Given the description of an element on the screen output the (x, y) to click on. 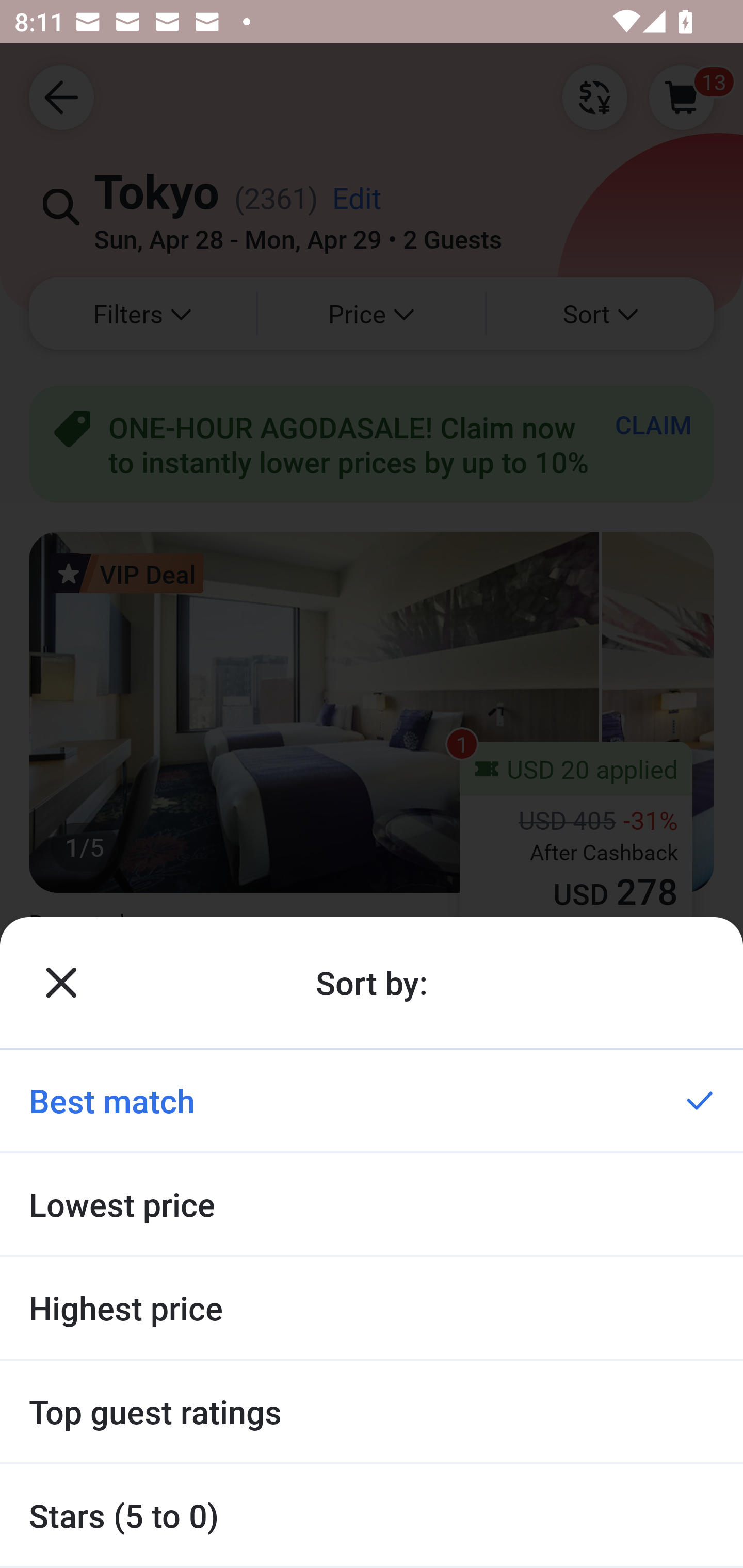
Best match (371, 1099)
Lowest price (371, 1204)
Highest price (371, 1307)
Top guest ratings (371, 1411)
Stars (5 to 0) (371, 1515)
